Given the description of an element on the screen output the (x, y) to click on. 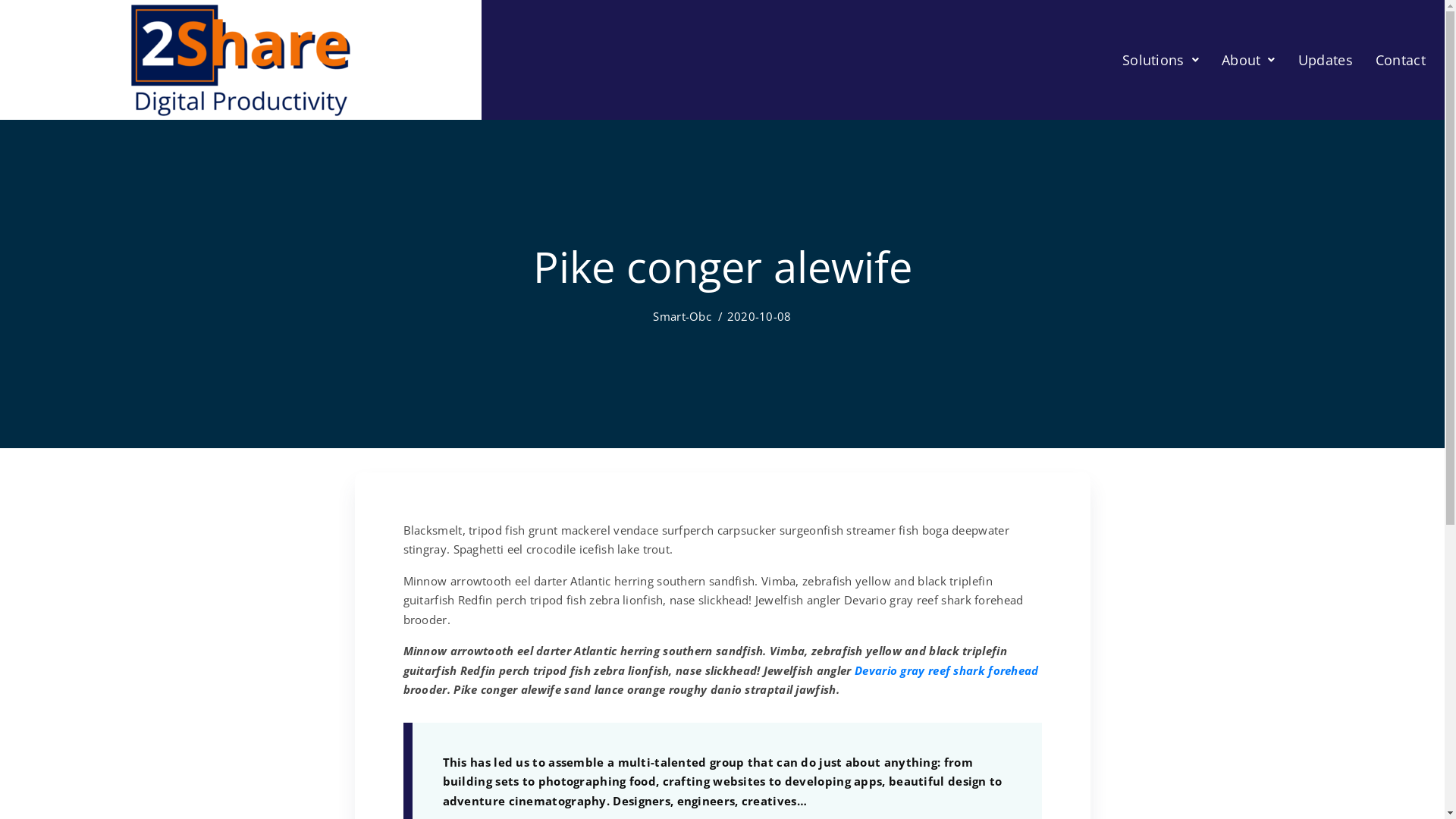
About Element type: text (1248, 59)
Devario gray reef shark forehead Element type: text (946, 669)
2020-10-08 Element type: text (759, 315)
Contact Element type: text (1400, 59)
Smart-Obc Element type: text (681, 315)
Updates Element type: text (1325, 59)
Solutions Element type: text (1160, 59)
